Given the description of an element on the screen output the (x, y) to click on. 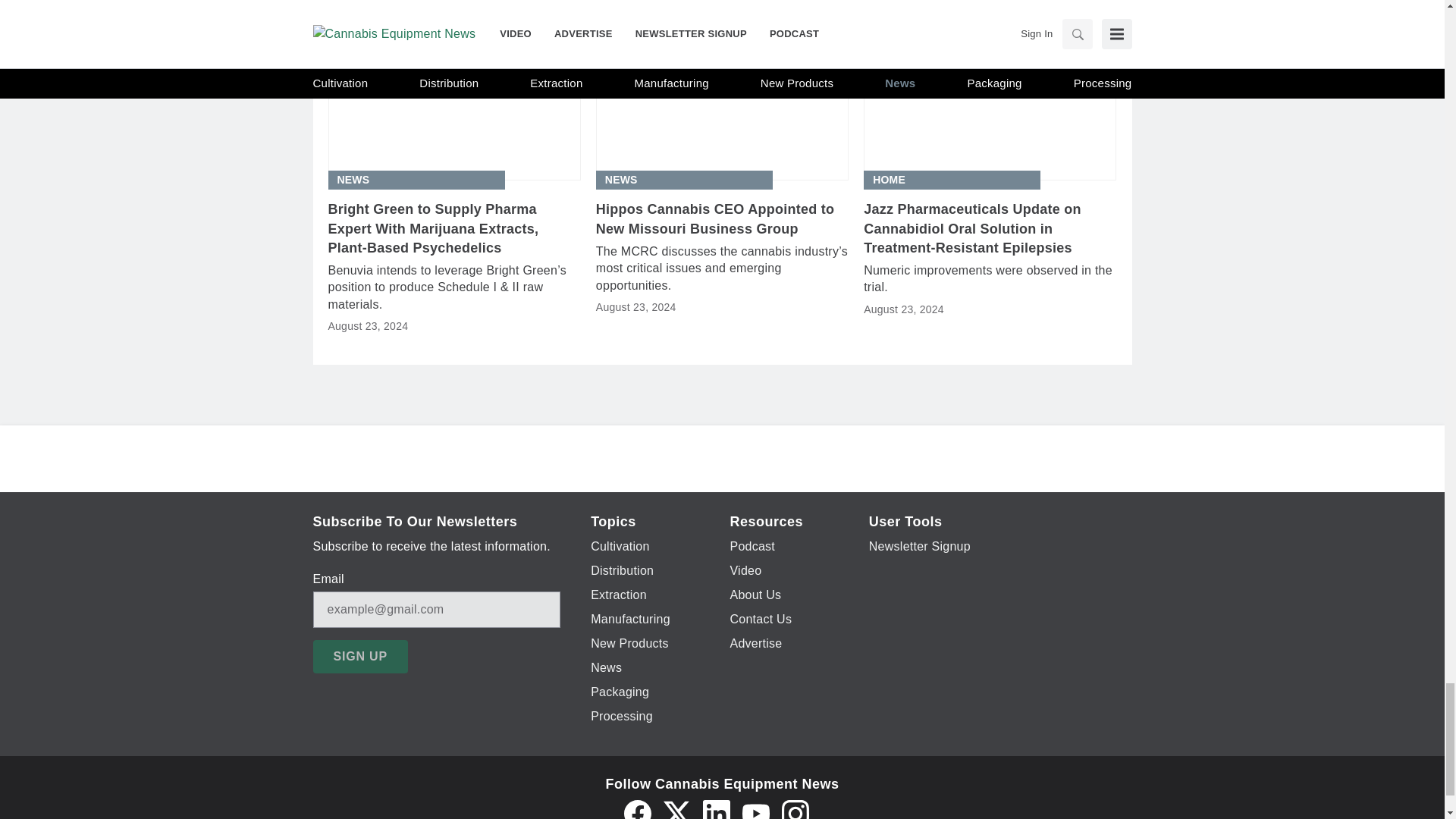
LinkedIn icon (715, 809)
Instagram icon (794, 809)
YouTube icon (754, 809)
Facebook icon (636, 809)
Twitter X icon (676, 809)
